Given the description of an element on the screen output the (x, y) to click on. 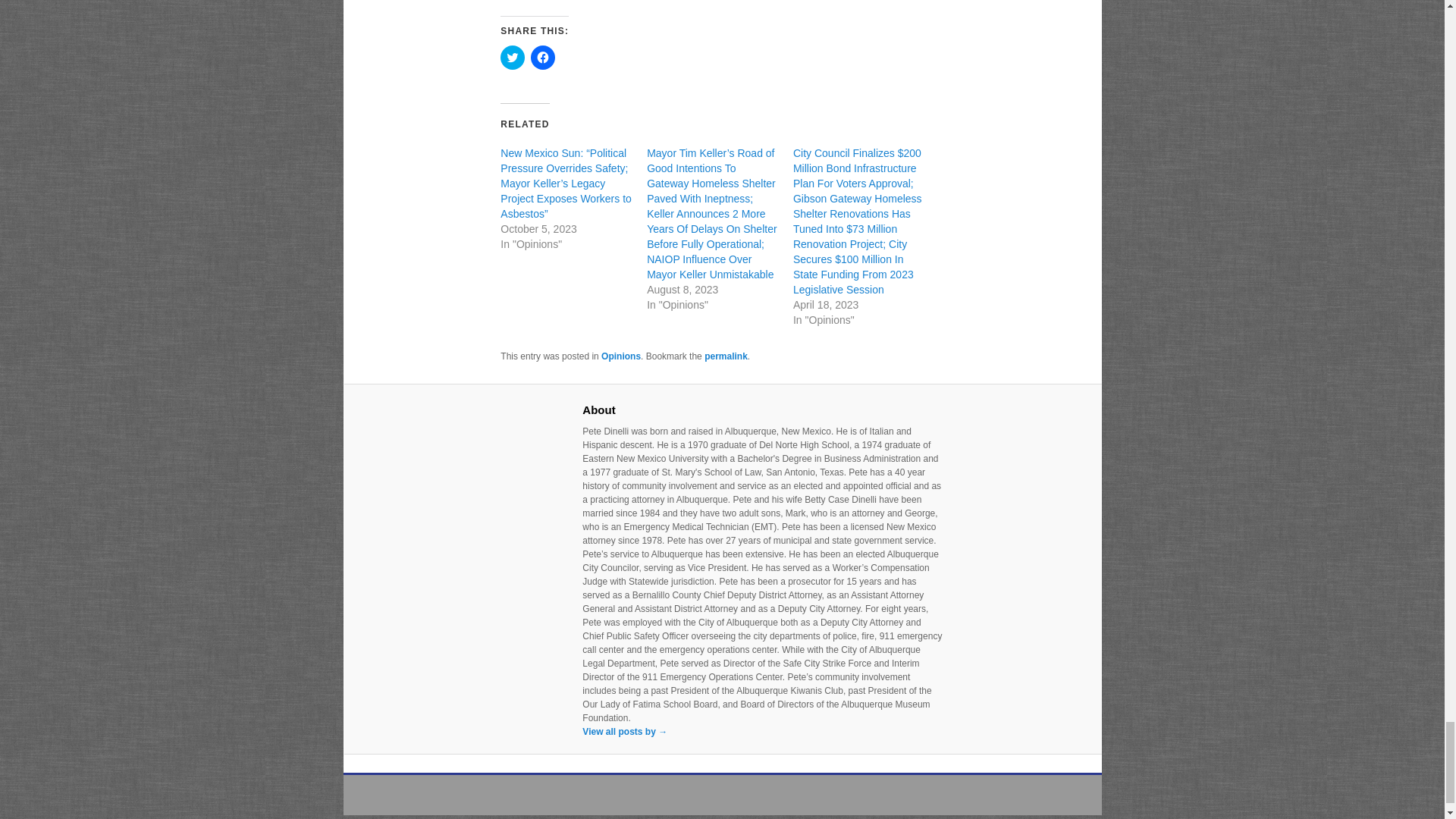
Opinions (620, 356)
Click to share on Facebook (542, 57)
Click to share on Twitter (512, 57)
permalink (726, 356)
